Given the description of an element on the screen output the (x, y) to click on. 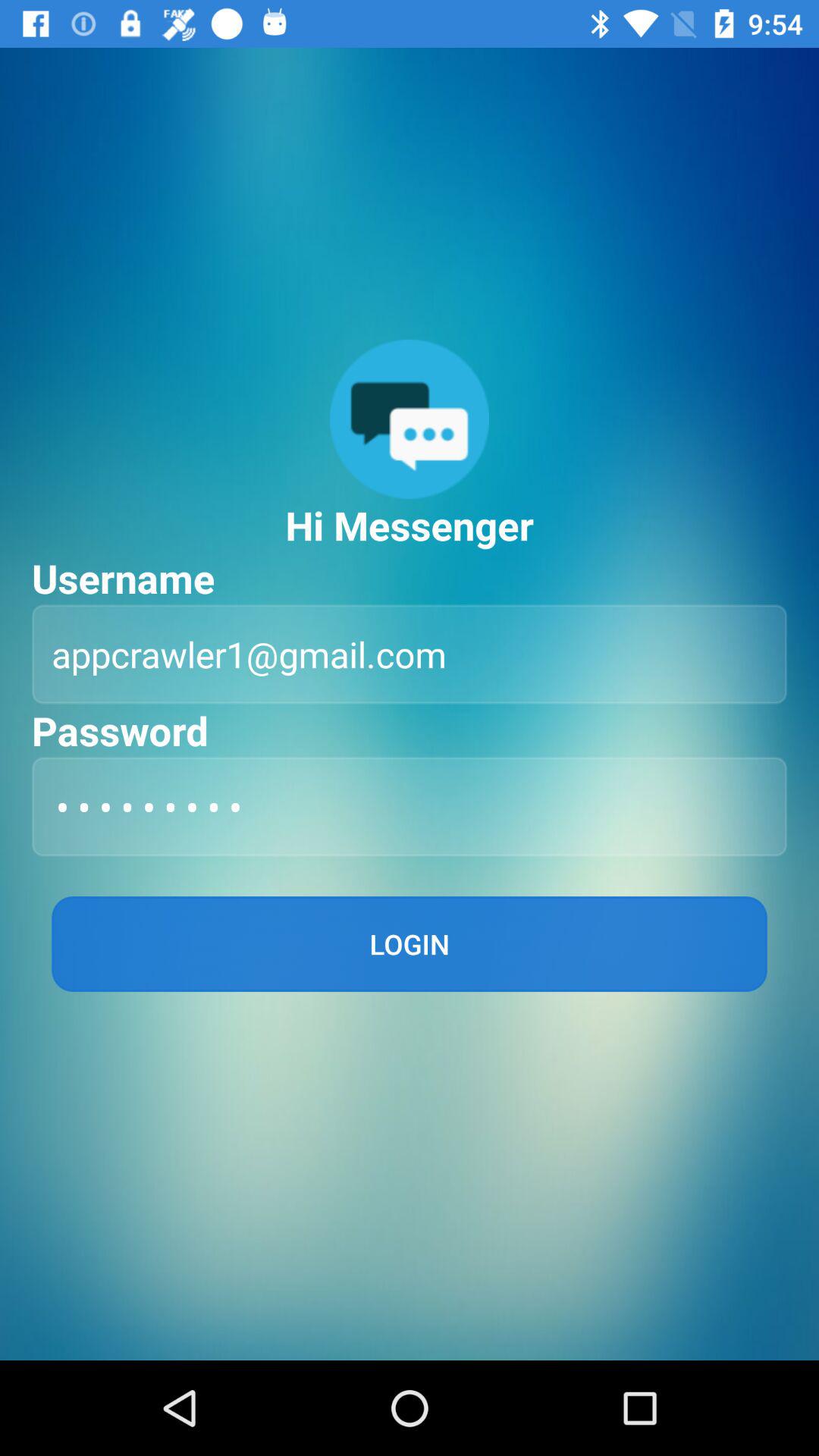
jump to appcrawler1@gmail.com (409, 654)
